Given the description of an element on the screen output the (x, y) to click on. 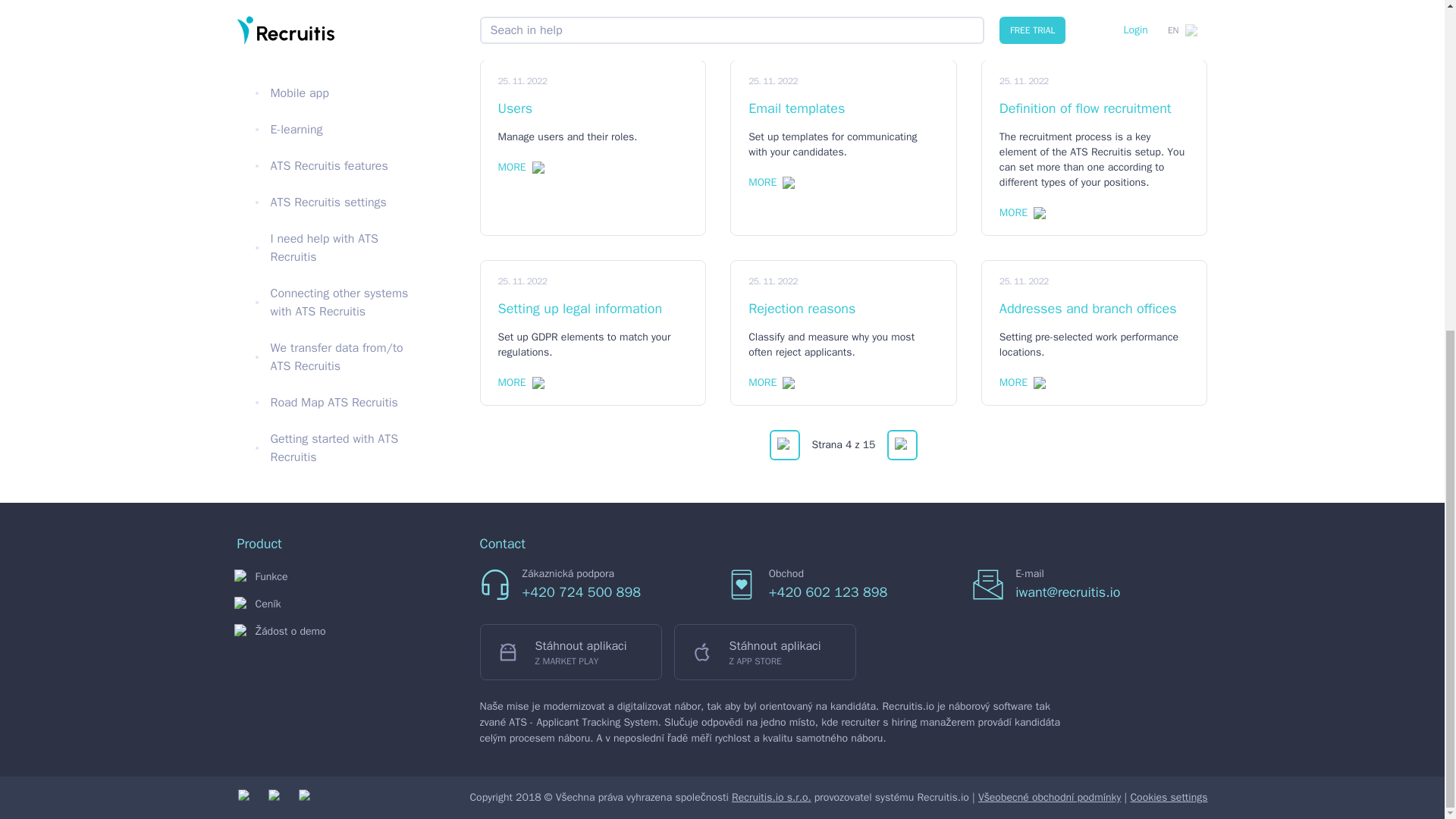
Addresses and branch offices (1093, 308)
Definition of flow recruitment (1093, 108)
MORE (771, 2)
MORE (520, 1)
Email templates (843, 108)
MORE (520, 167)
Setting up legal information (592, 308)
MORE (1021, 12)
MORE (771, 382)
MORE (1021, 212)
Users (592, 108)
MORE (771, 182)
MORE (520, 382)
Rejection reasons (843, 308)
MORE (1021, 382)
